Given the description of an element on the screen output the (x, y) to click on. 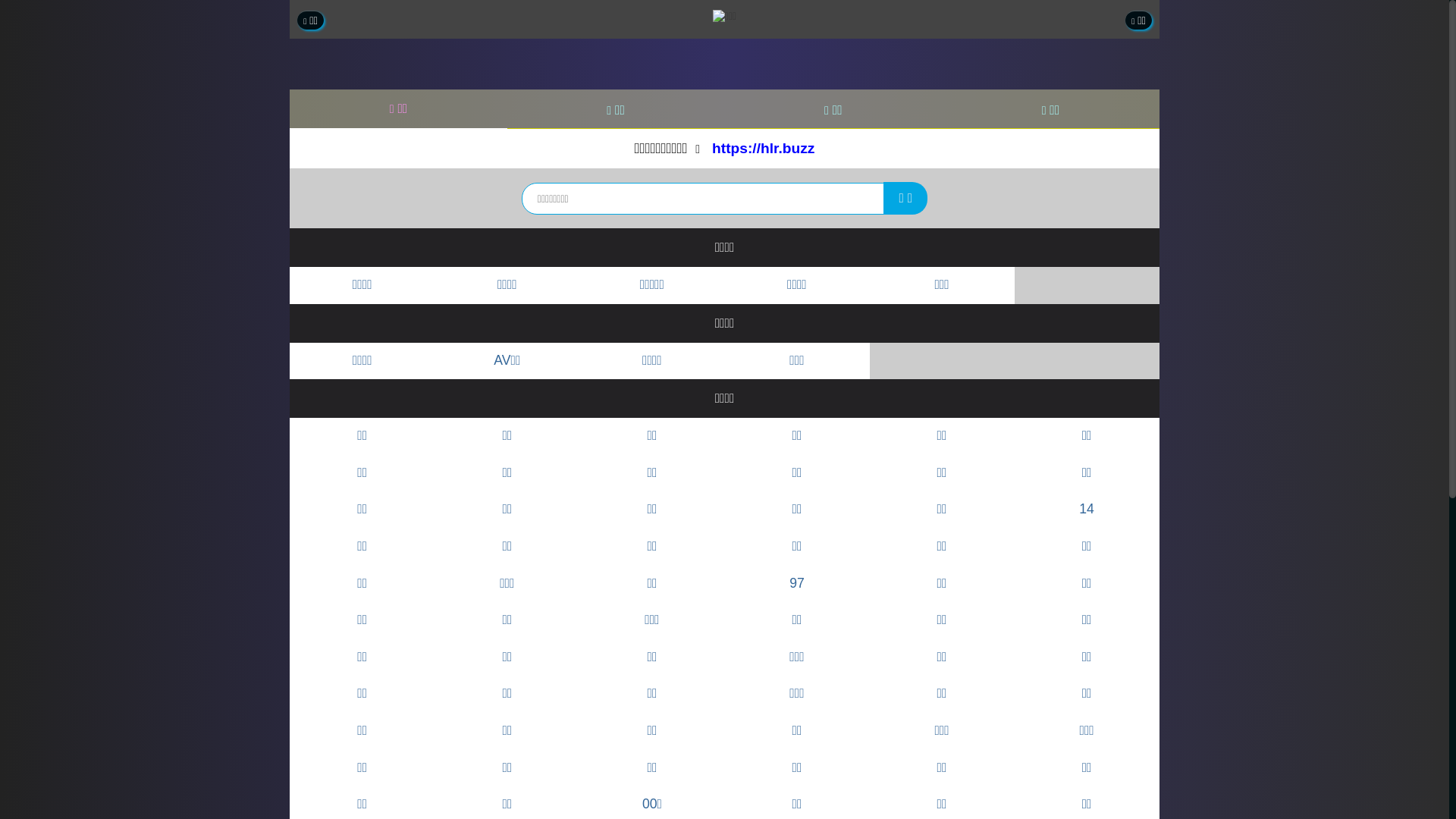
97 Element type: text (796, 583)
https://hlr.buzz Element type: text (763, 148)
14 Element type: text (1086, 509)
